Given the description of an element on the screen output the (x, y) to click on. 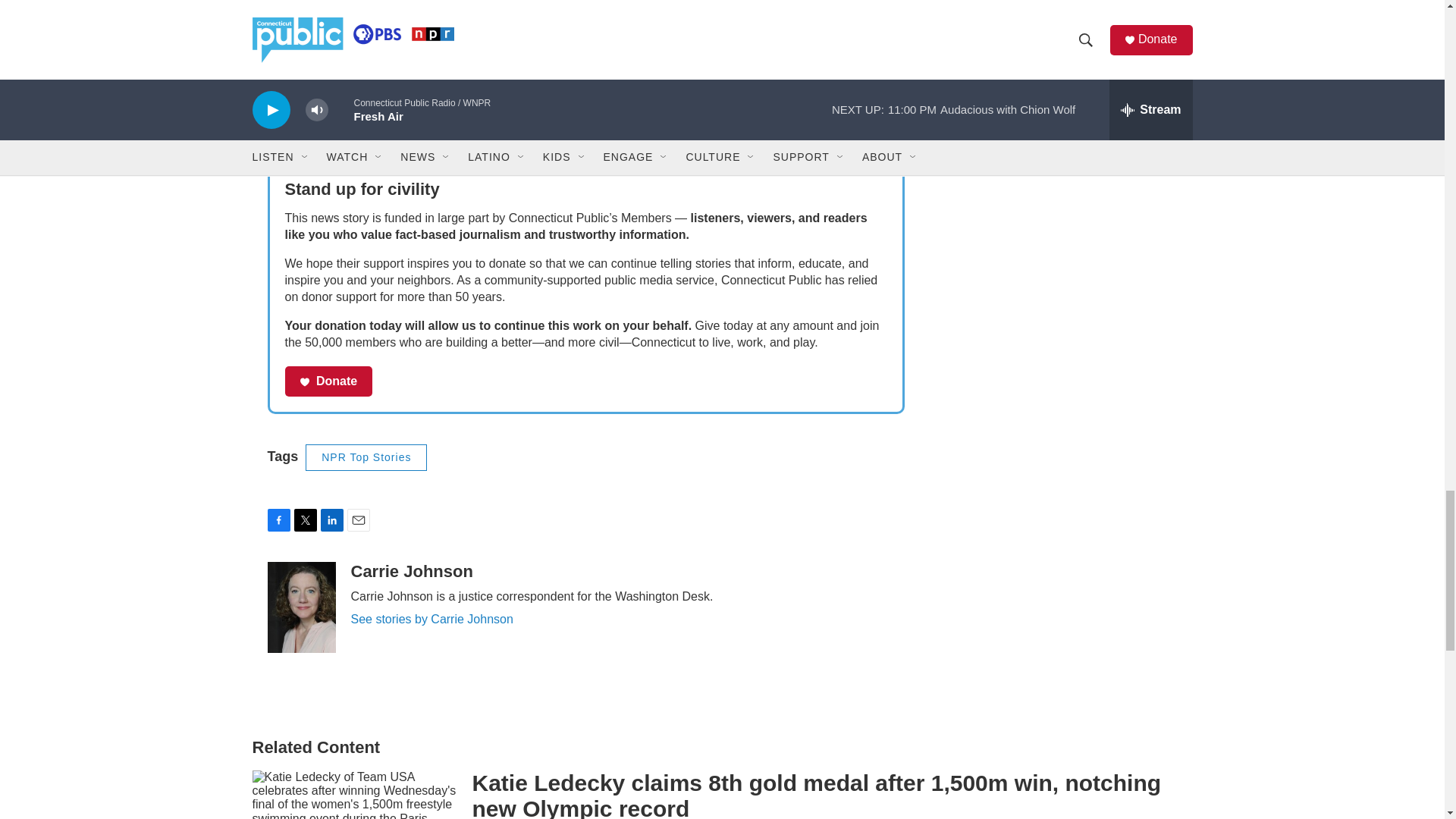
3rd party ad content (1062, 96)
